Given the description of an element on the screen output the (x, y) to click on. 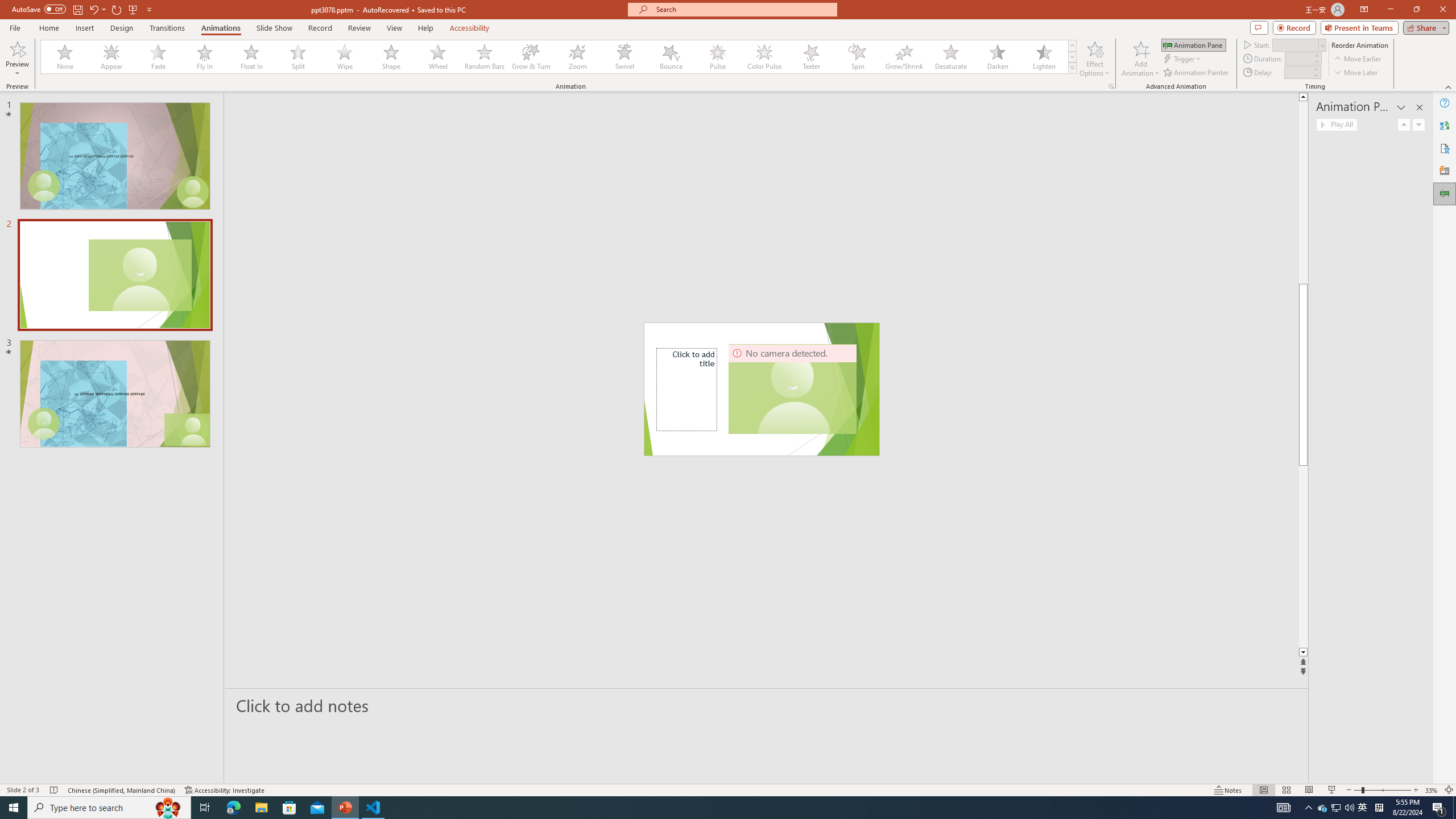
None (65, 56)
Animation Delay (1297, 72)
Random Bars (484, 56)
Teeter (810, 56)
Zoom 33% (1431, 790)
Wipe (344, 56)
